Given the description of an element on the screen output the (x, y) to click on. 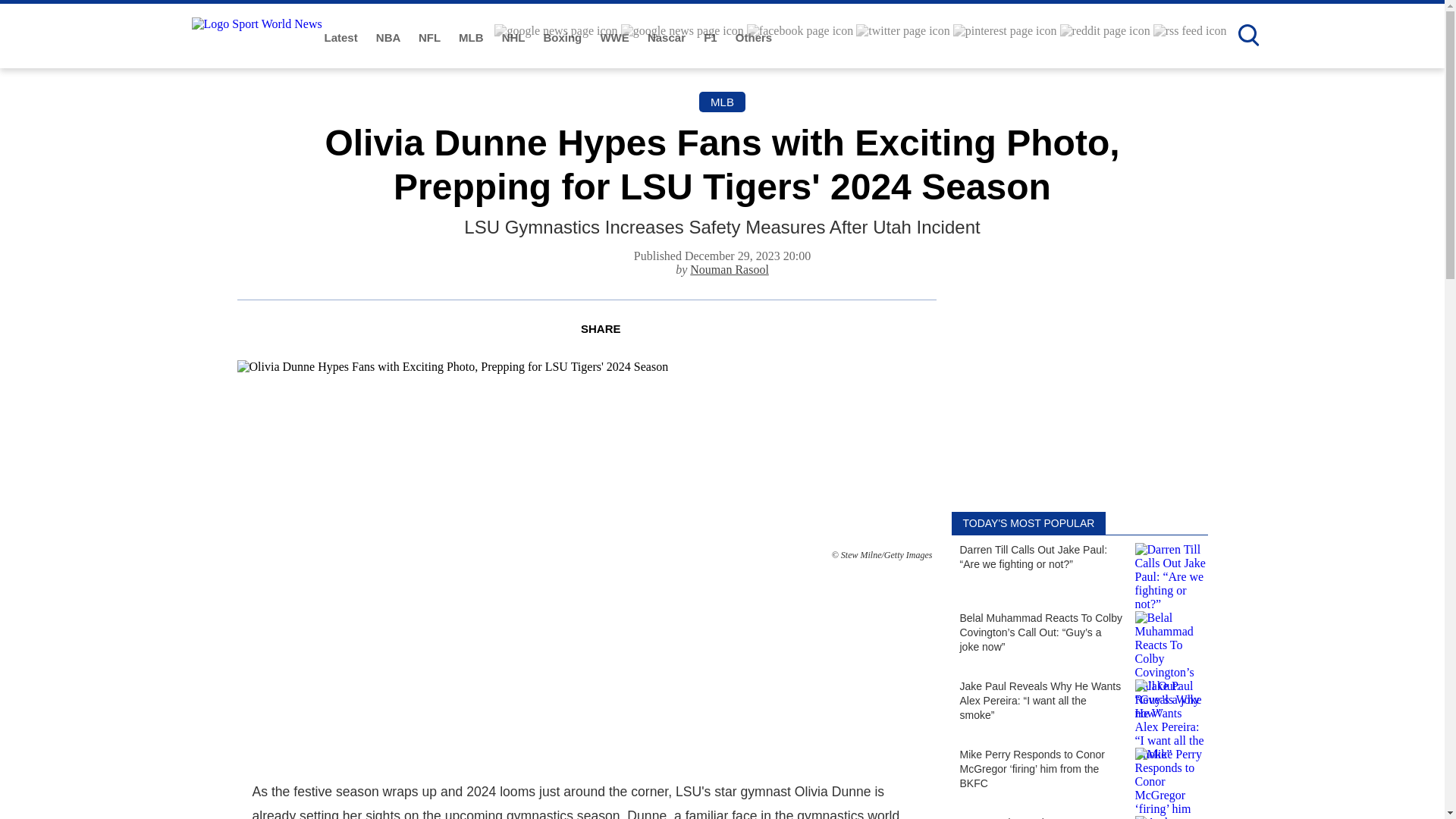
Boxing (564, 37)
MLB (472, 37)
WWE (615, 37)
NHL (515, 37)
Latest (342, 37)
Others (753, 37)
NFL (431, 37)
Nascar (667, 37)
F1 (711, 37)
NBA (389, 37)
